Given the description of an element on the screen output the (x, y) to click on. 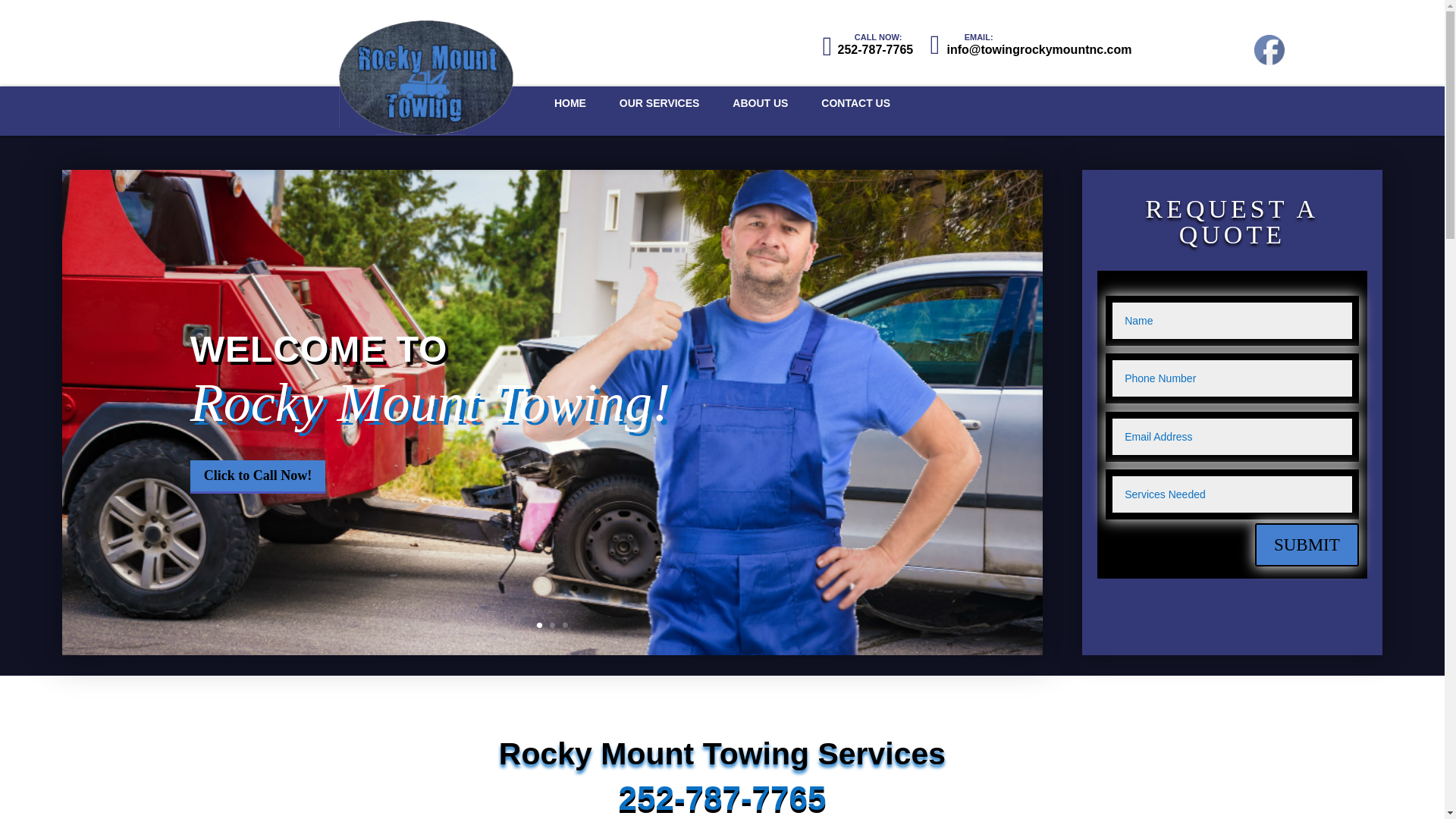
ABOUT US (759, 116)
CONTACT US (855, 116)
3 (564, 624)
252-787-7765 (721, 797)
Facebook (1268, 50)
SUBMIT (1306, 544)
OUR SERVICES (660, 116)
HOME (570, 116)
